Given the description of an element on the screen output the (x, y) to click on. 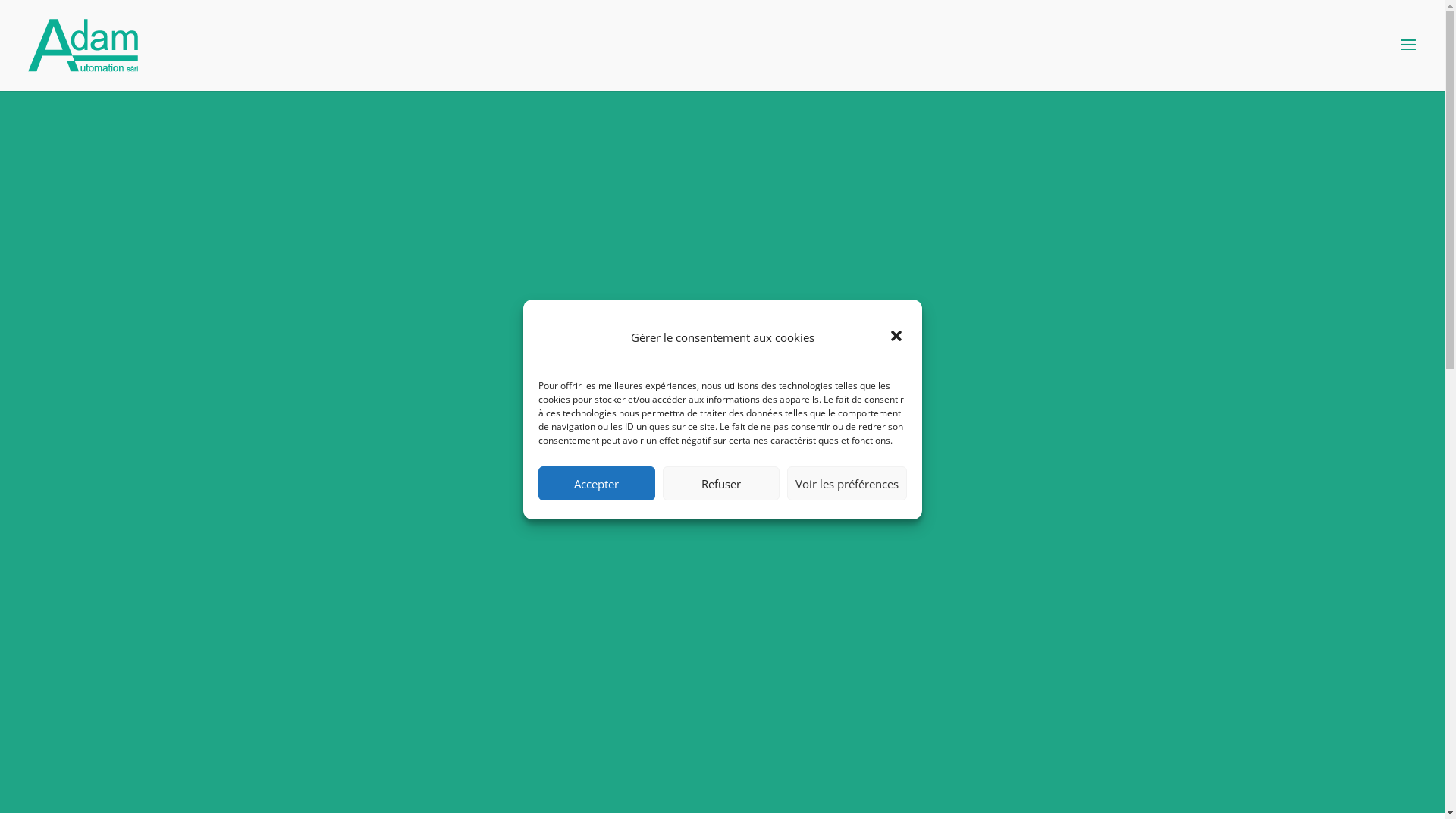
Accepter Element type: text (596, 483)
Refuser Element type: text (720, 483)
